Given the description of an element on the screen output the (x, y) to click on. 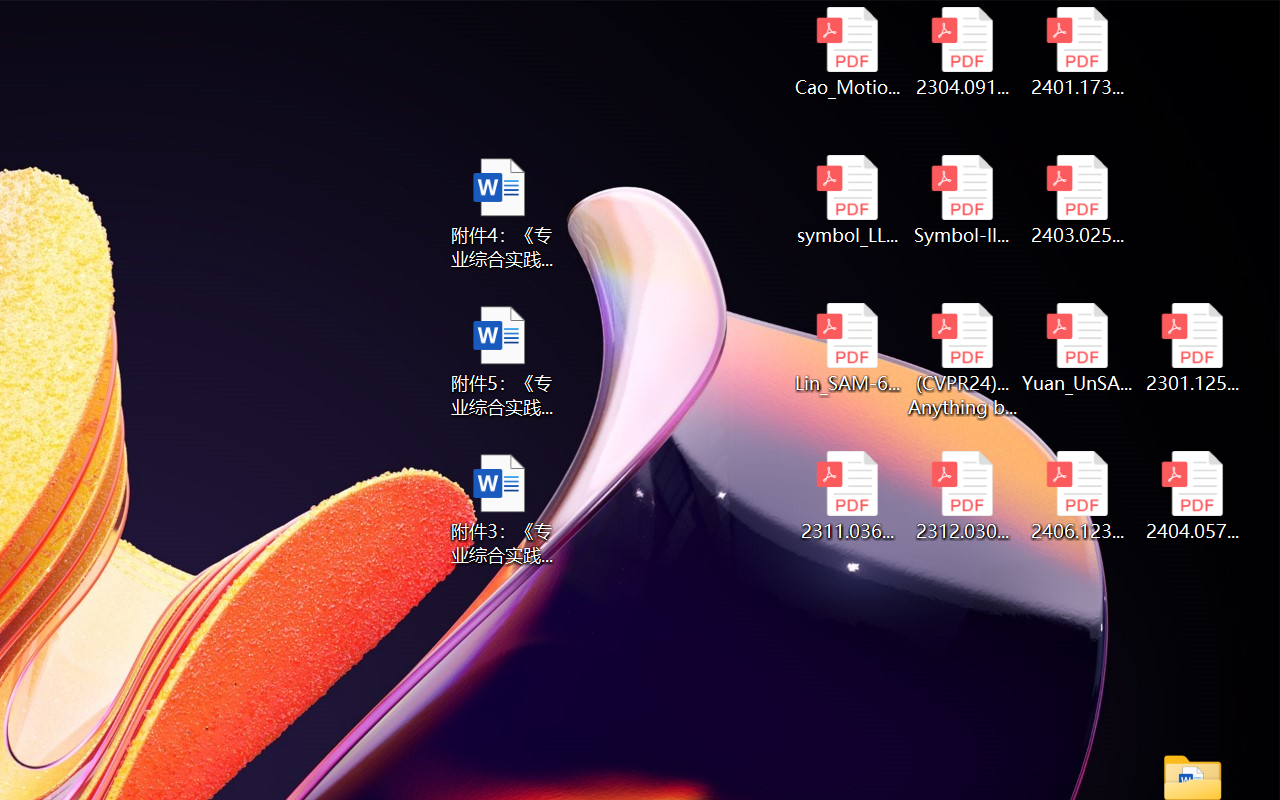
2404.05719v1.pdf (1192, 496)
2406.12373v2.pdf (1077, 496)
(CVPR24)Matching Anything by Segmenting Anything.pdf (962, 360)
2401.17399v1.pdf (1077, 52)
2301.12597v3.pdf (1192, 348)
2312.03032v2.pdf (962, 496)
2403.02502v1.pdf (1077, 200)
Symbol-llm-v2.pdf (962, 200)
symbol_LLM.pdf (846, 200)
2311.03658v2.pdf (846, 496)
2304.09121v3.pdf (962, 52)
